Given the description of an element on the screen output the (x, y) to click on. 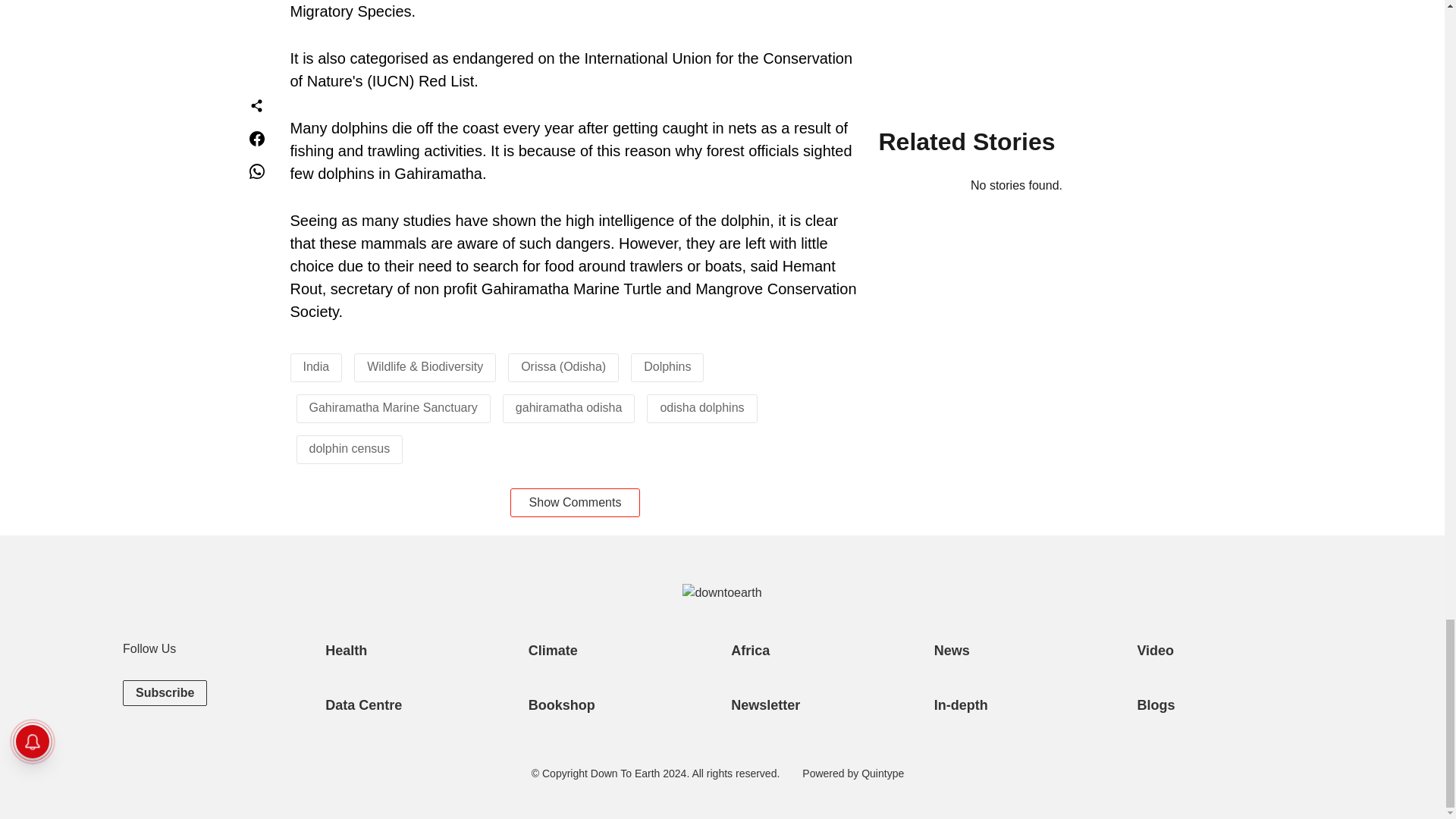
dolphin census (349, 448)
Show Comments (575, 502)
gahiramatha odisha (569, 407)
Dolphins (666, 366)
Gahiramatha Marine Sanctuary (392, 407)
India (316, 366)
odisha dolphins (701, 407)
